Given the description of an element on the screen output the (x, y) to click on. 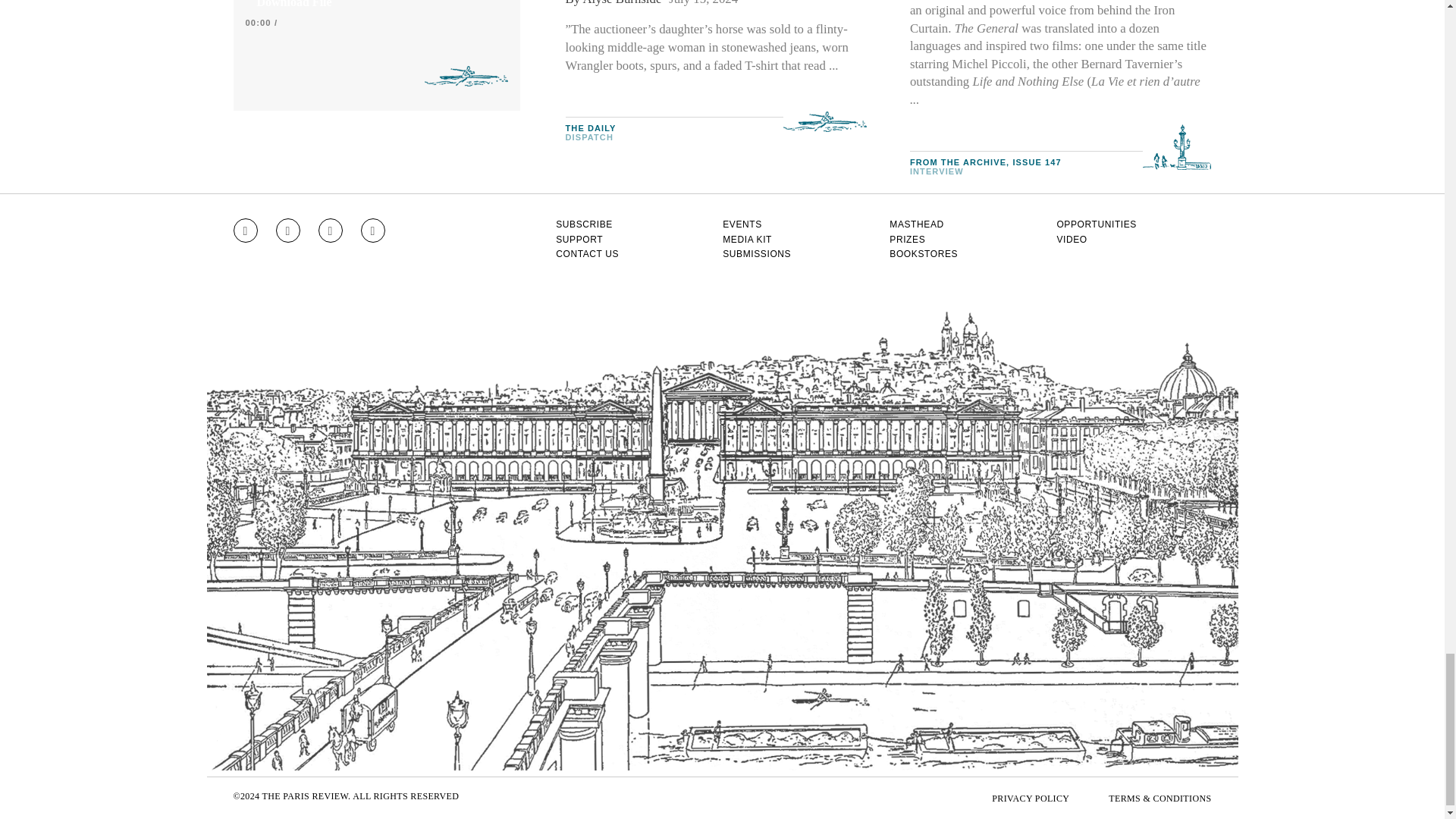
Go to Facebook page (287, 230)
Go to RSS feed (373, 230)
Go to Twitter feed (330, 230)
Go to Instagram feed (244, 230)
